Given the description of an element on the screen output the (x, y) to click on. 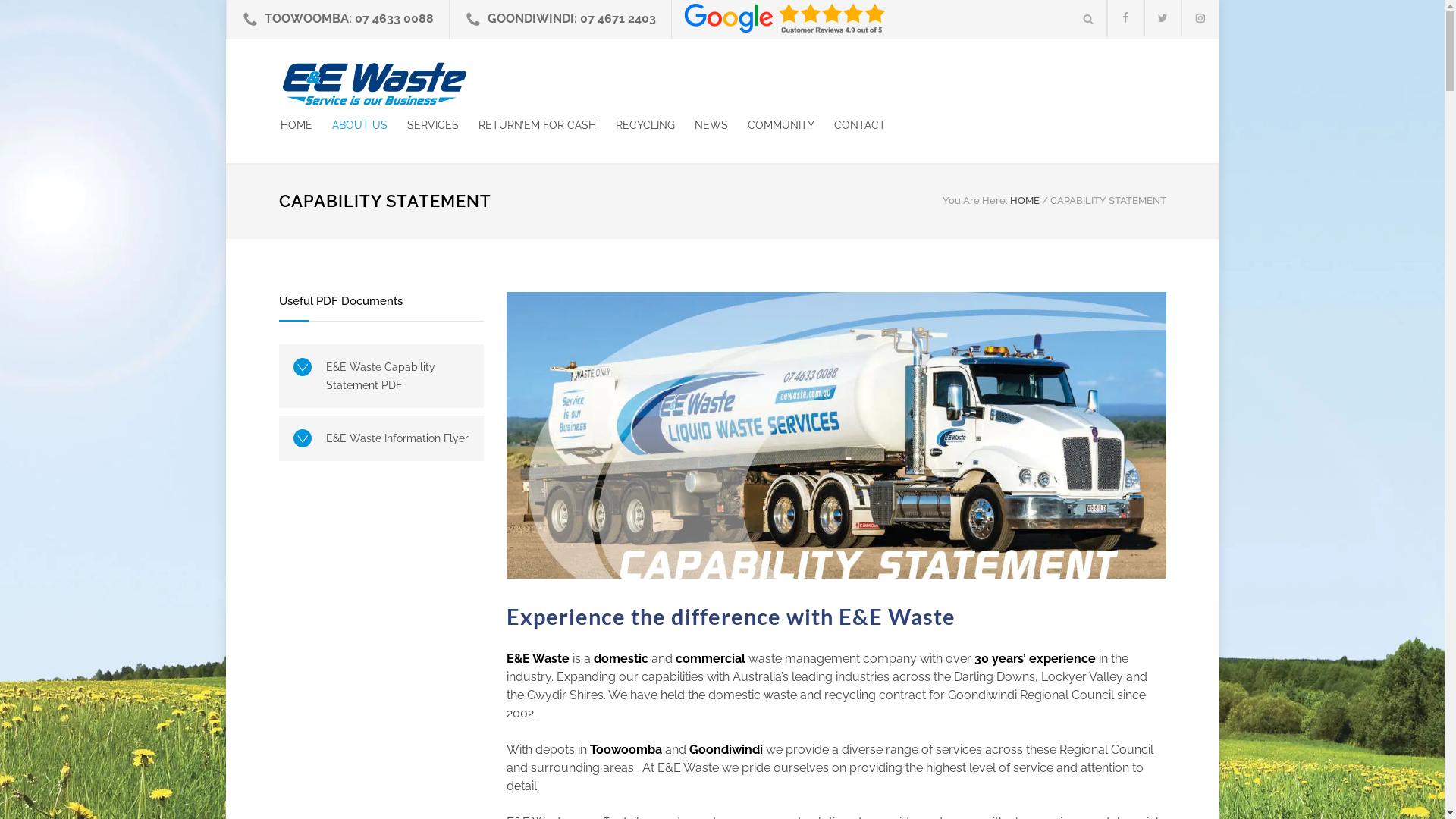
Search Element type: hover (1087, 18)
ABOUT US Element type: text (349, 124)
E&E Waste Toowoomba Element type: hover (419, 82)
RECYCLING Element type: text (635, 124)
HOME Element type: text (1024, 200)
CONTACT Element type: text (849, 124)
TOOWOOMBA: 07 4633 0088 Element type: text (348, 18)
E&E Waste Information Flyer Element type: text (381, 438)
HOME Element type: text (296, 124)
NEWS Element type: text (701, 124)
E&E Waste Capability Statement PDF Element type: text (381, 375)
COMMUNITY Element type: text (771, 124)
SERVICES Element type: text (422, 124)
GOONDIWINDI: 07 4671 2403 Element type: text (570, 18)
